Given the description of an element on the screen output the (x, y) to click on. 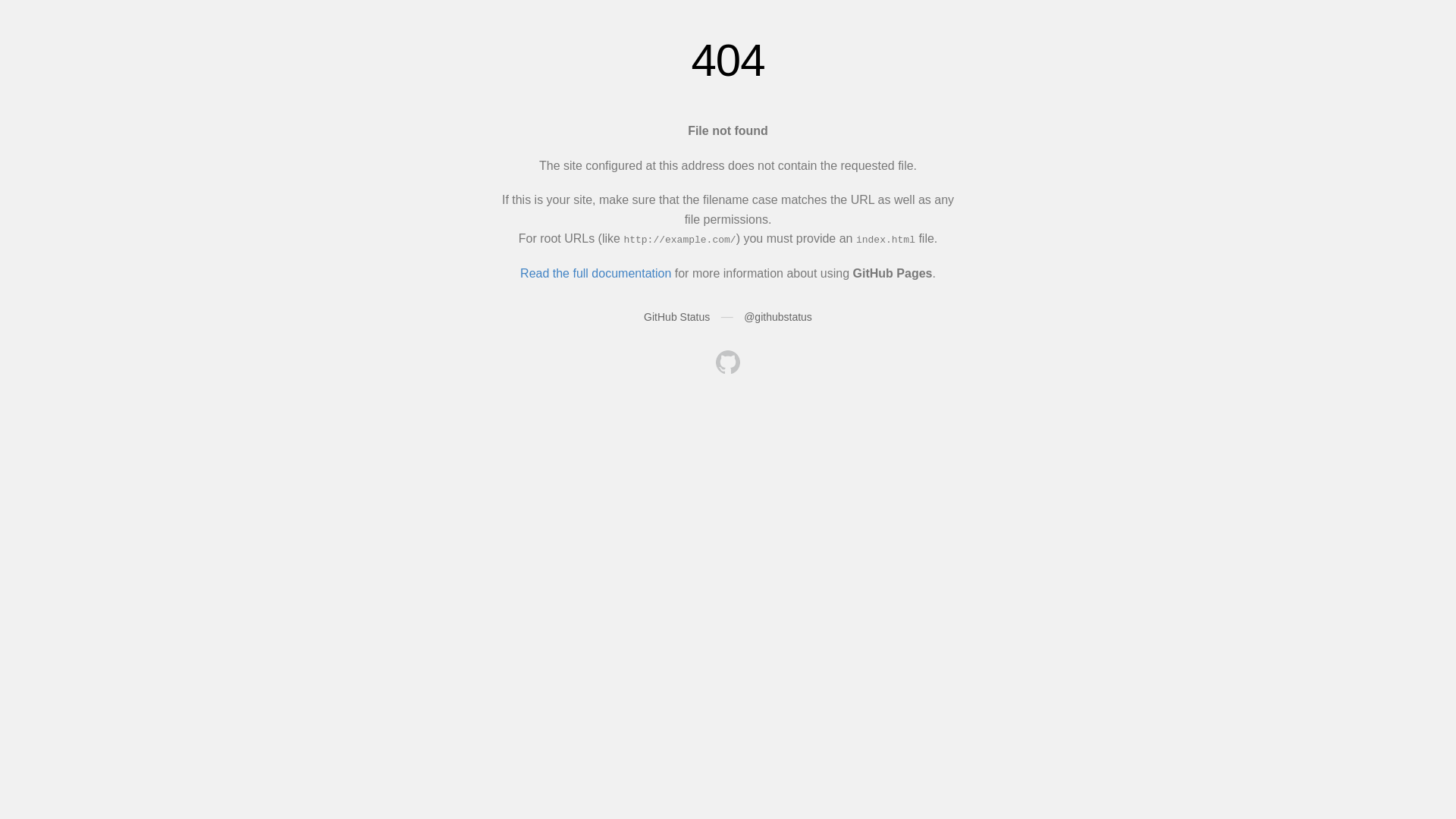
Read the full documentation Element type: text (595, 272)
@githubstatus Element type: text (777, 316)
GitHub Status Element type: text (676, 316)
